Given the description of an element on the screen output the (x, y) to click on. 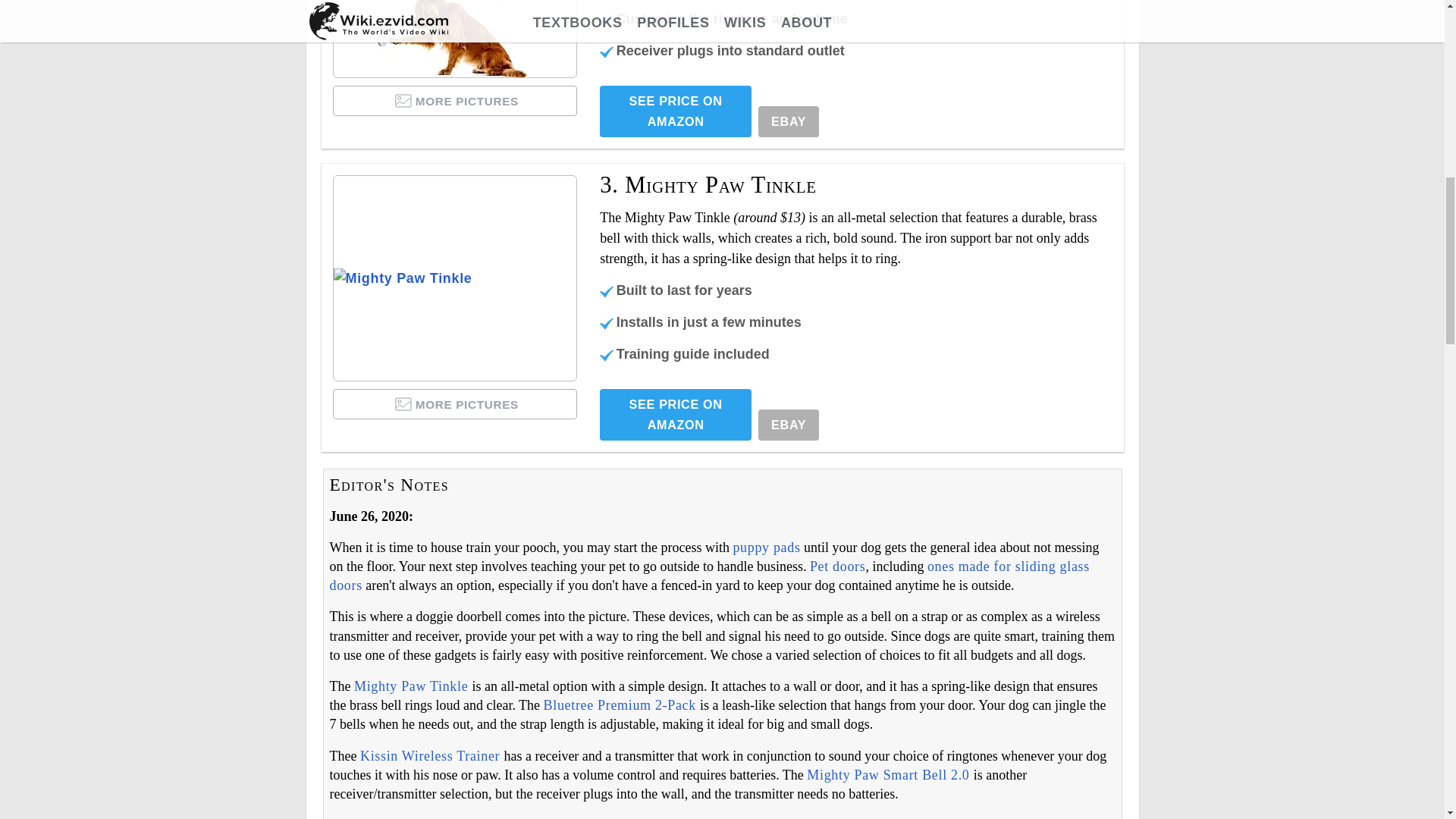
MORE PICTURES (454, 100)
SEE PRICE ON AMAZON (675, 111)
EBAY (788, 121)
